Given the description of an element on the screen output the (x, y) to click on. 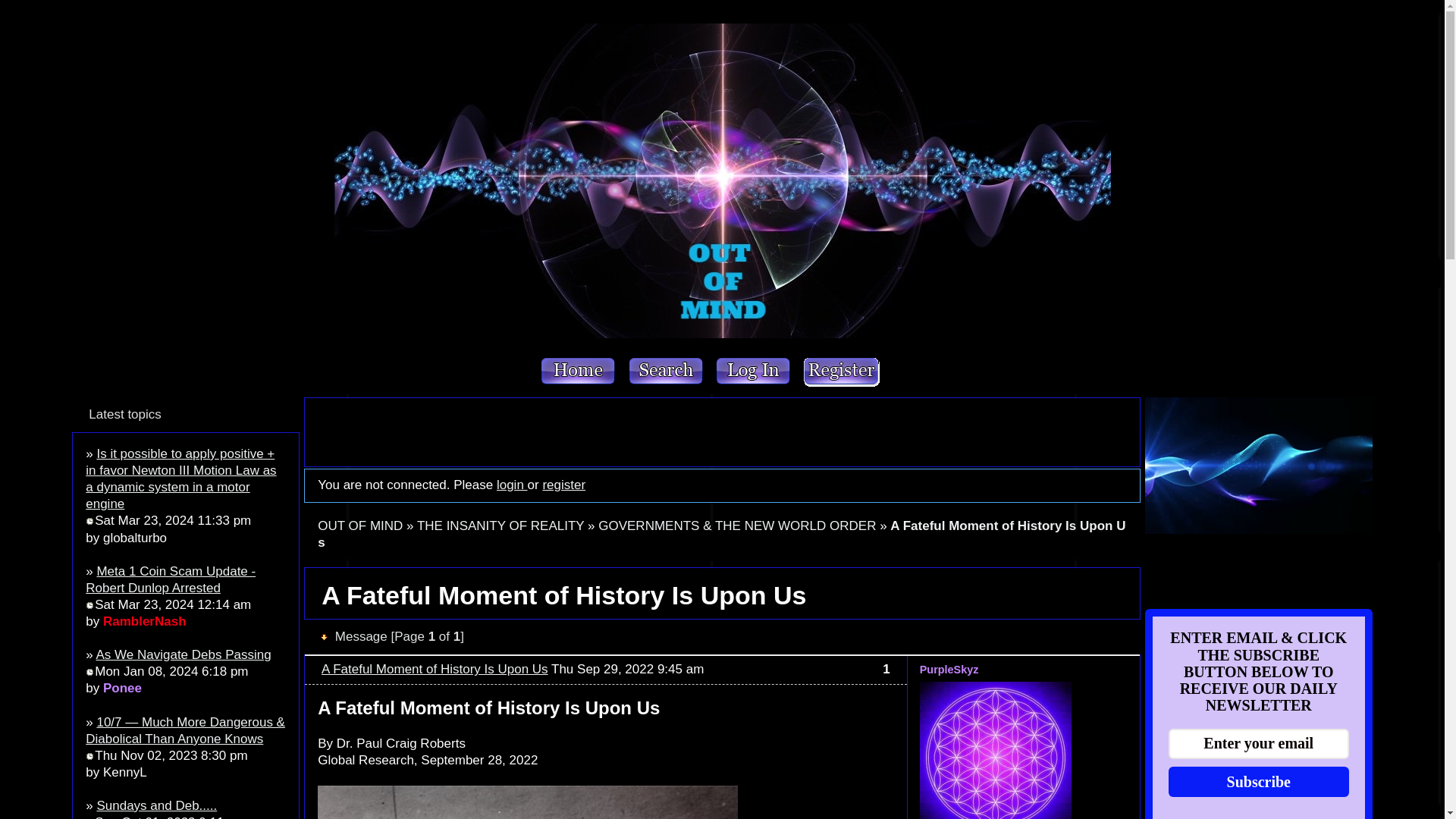
register (563, 484)
Register (841, 371)
Meta 1 Coin Scam Update - Robert Dunlop Arrested (170, 579)
Sundays and Deb..... (156, 805)
OUT OF MIND (360, 525)
THE INSANITY OF REALITY (499, 525)
A Fateful Moment of History Is Upon Us (721, 533)
login (511, 484)
Log in (754, 371)
Sundays and Deb..... (156, 805)
As We Navigate Debs Passing (183, 654)
As We Navigate Debs Passing (183, 654)
Meta 1 Coin Scam Update - Robert Dunlop Arrested (170, 579)
Search (666, 371)
